Given the description of an element on the screen output the (x, y) to click on. 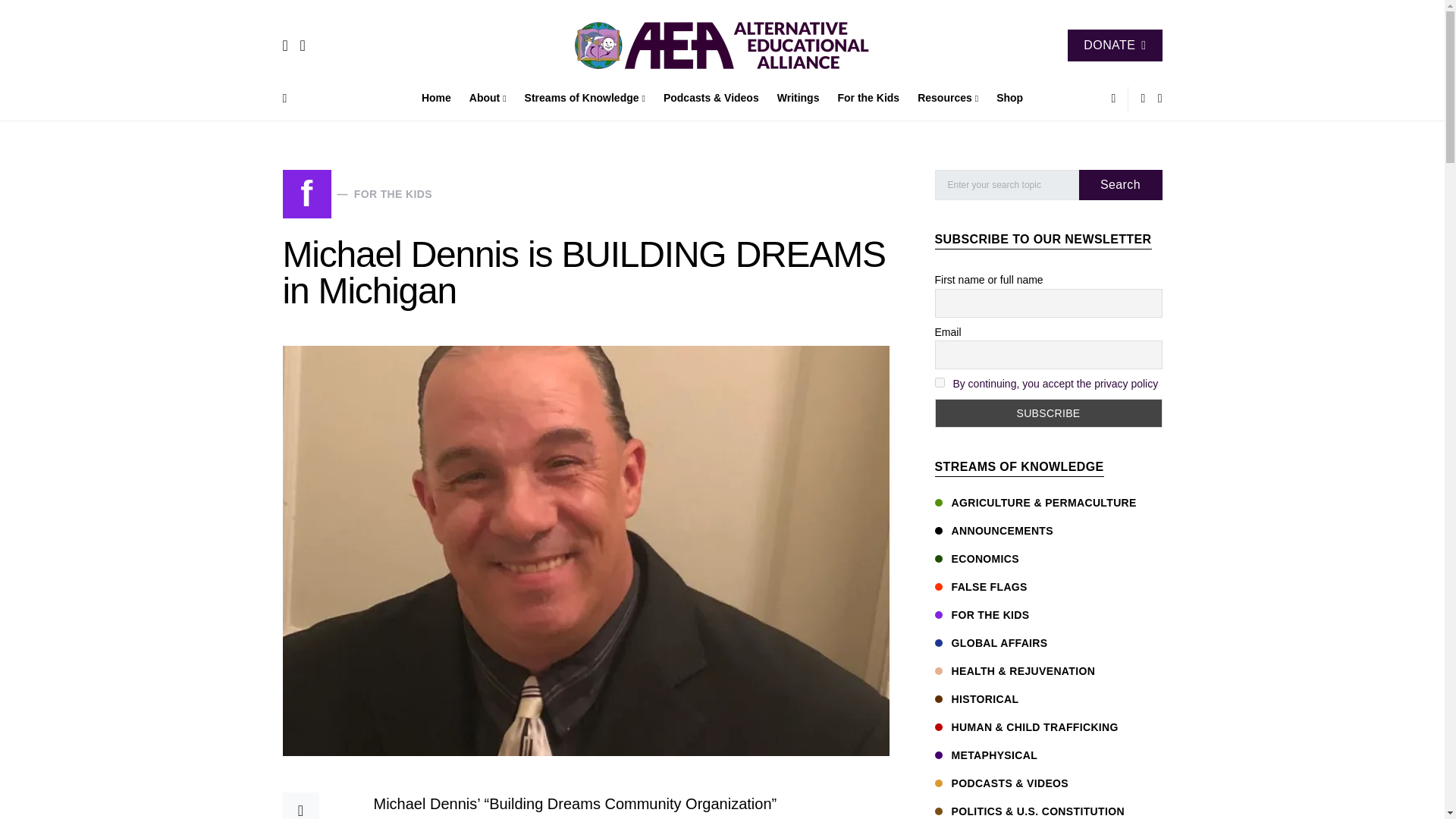
Subscribe (1047, 412)
on (938, 382)
